Given the description of an element on the screen output the (x, y) to click on. 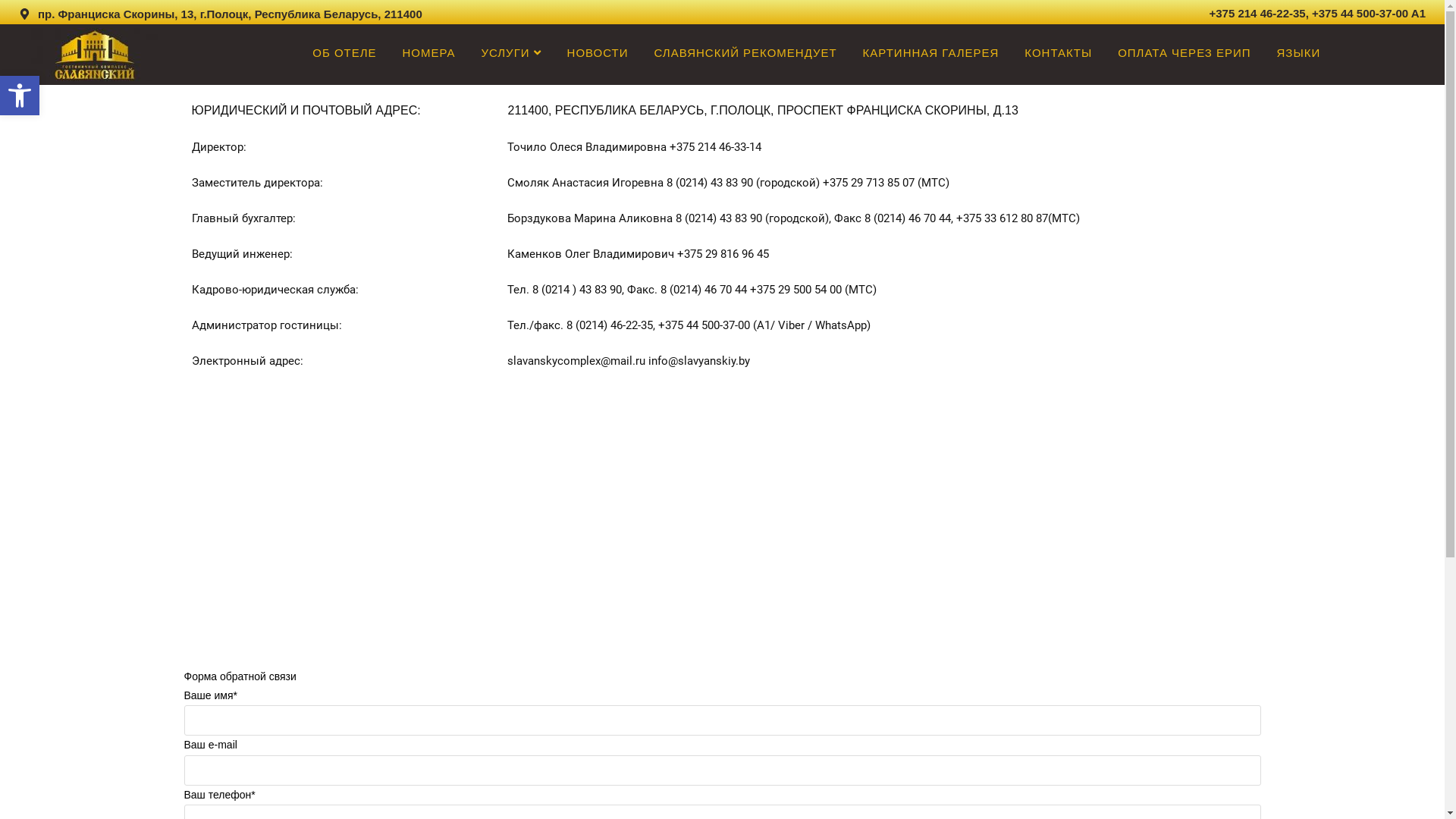
L-bGtzUYXLM Element type: hover (94, 54)
